Given the description of an element on the screen output the (x, y) to click on. 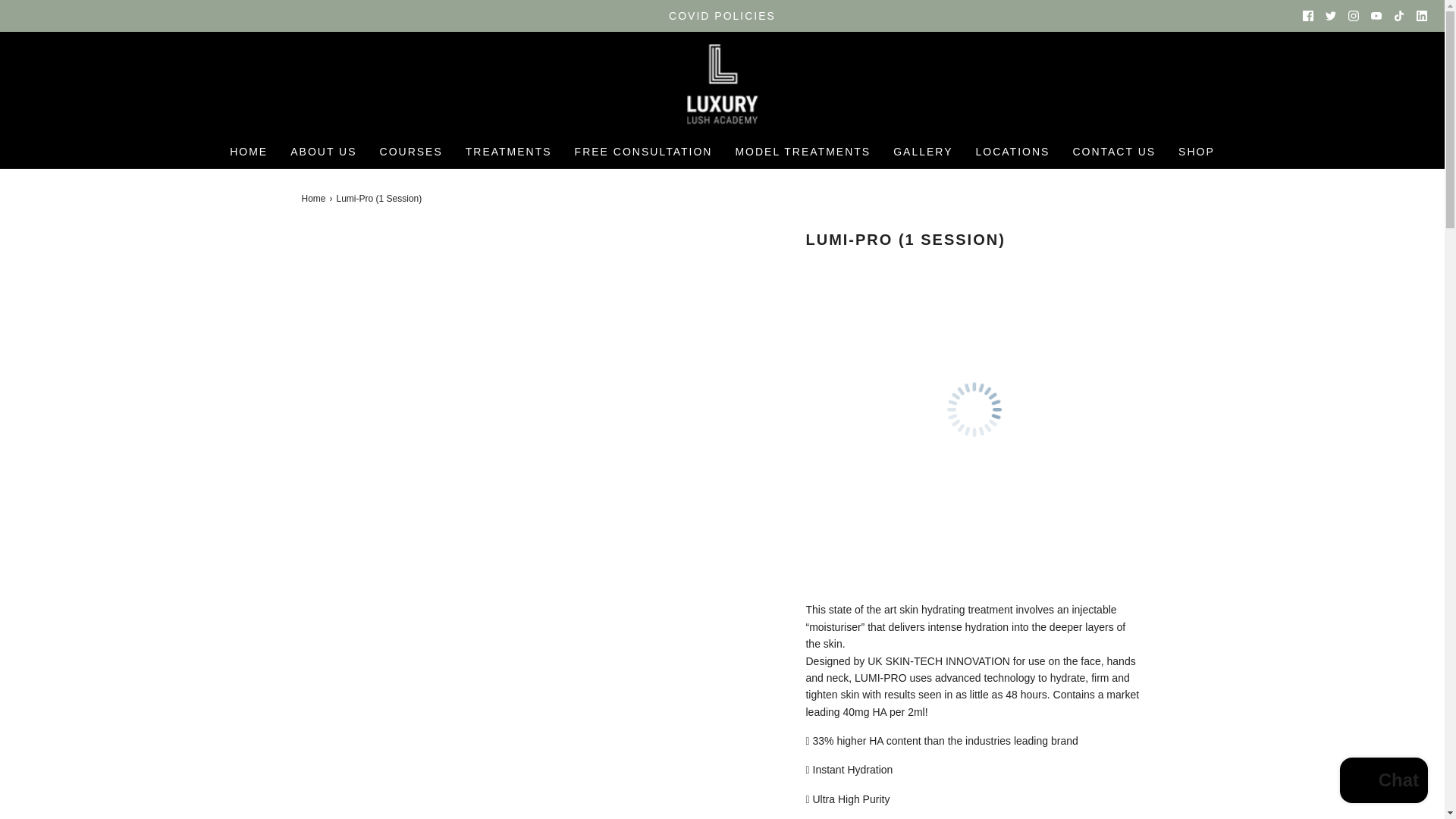
LINKEDIN ICON (1421, 15)
INSTAGRAM ICON (1353, 15)
Shopify online store chat (1383, 781)
FACEBOOK ICON (1308, 15)
INSTAGRAM ICON (1353, 15)
YOUTUBE ICON (1376, 15)
TWITTER ICON (1330, 15)
COVID POLICIES (722, 15)
YOUTUBE ICON (1376, 15)
